Given the description of an element on the screen output the (x, y) to click on. 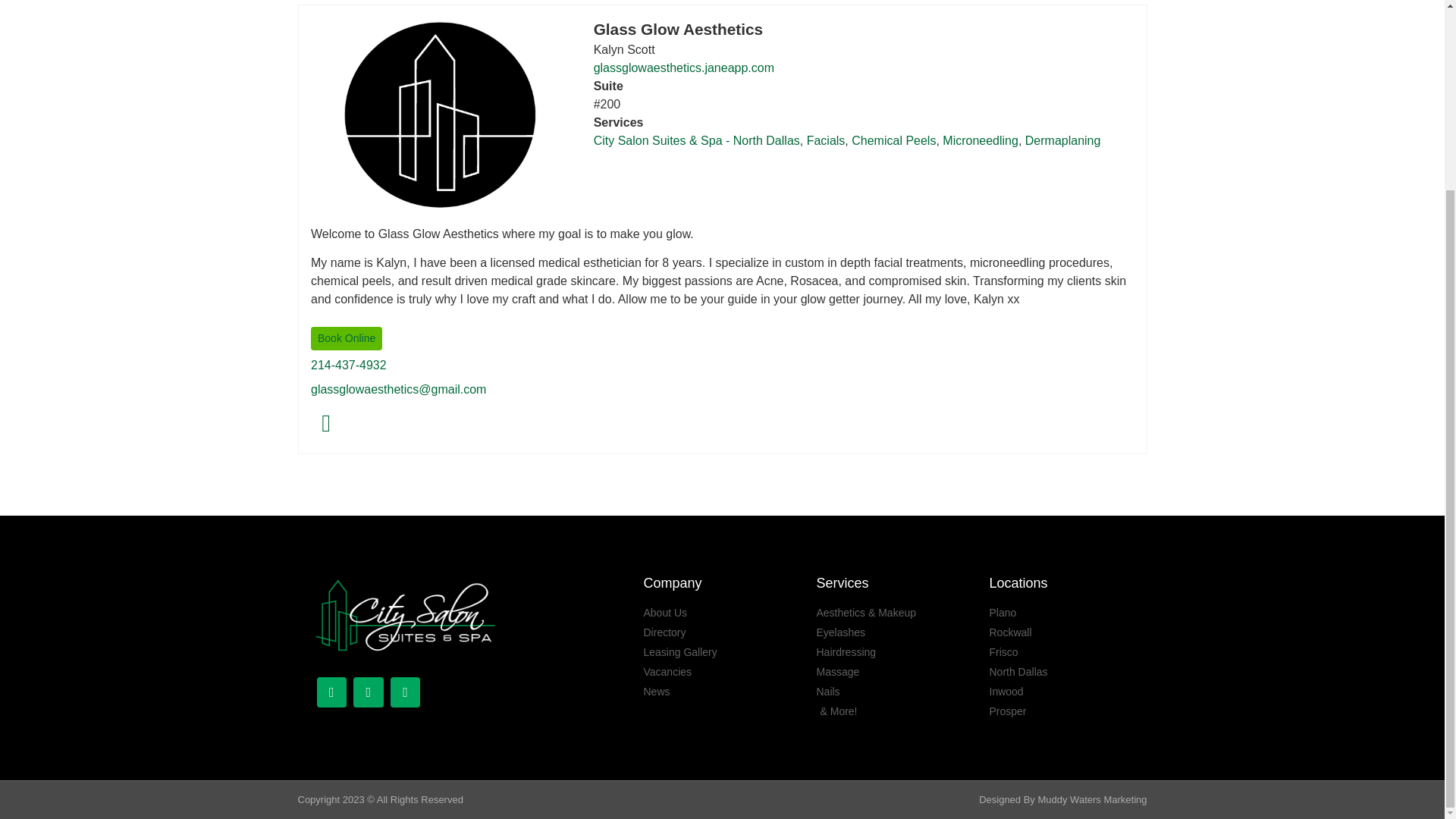
PLANO LOCATION (405, 692)
PLANO LOCATION (332, 692)
Microneedling (979, 141)
Dermaplaning (1062, 141)
PLANO LOCATION (368, 692)
Chemical Peels (893, 141)
Facials (825, 141)
Instagram (325, 427)
